Given the description of an element on the screen output the (x, y) to click on. 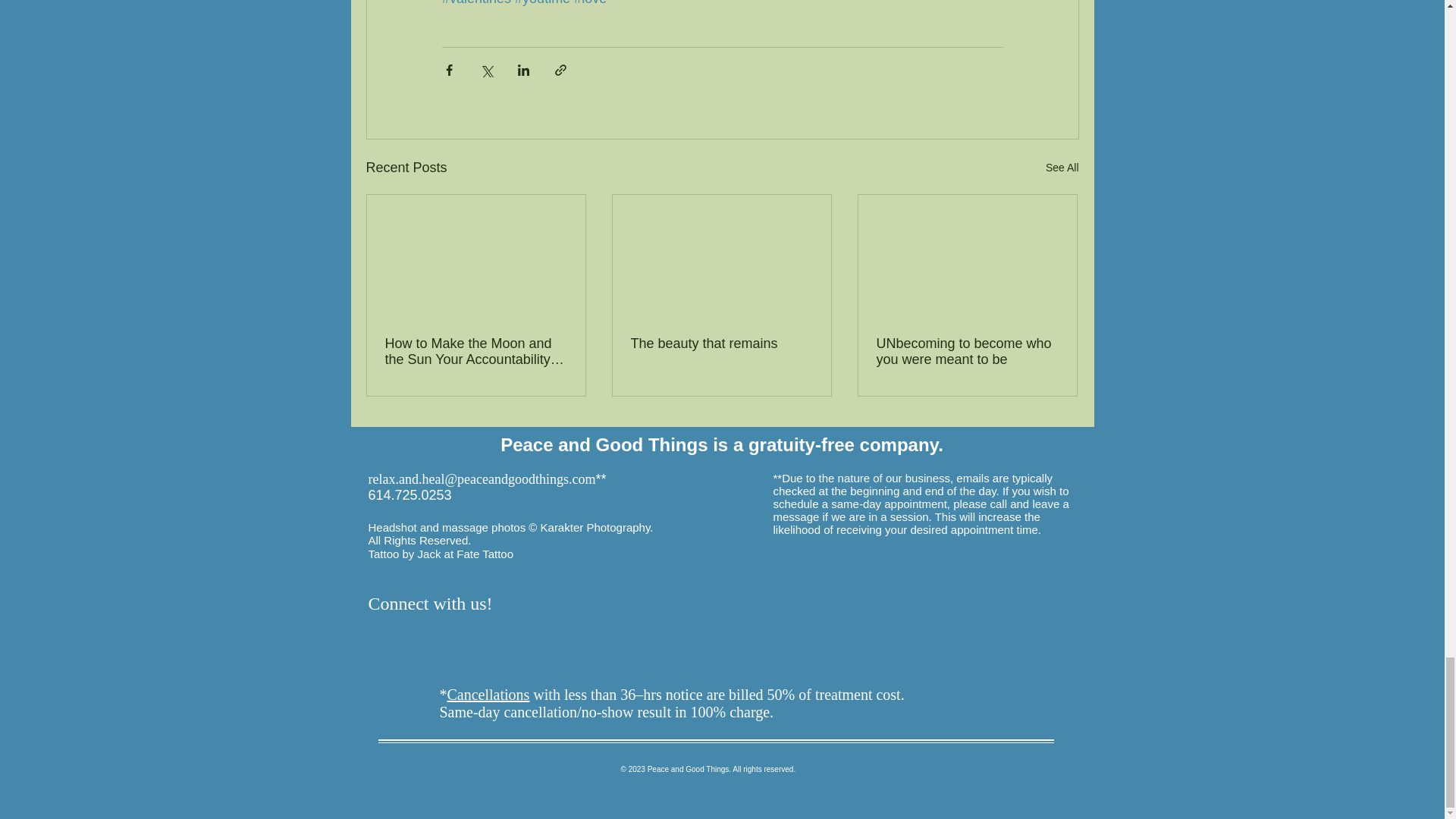
The beauty that remains (721, 343)
Peace and Good Things is a gratuity-free company. (721, 444)
UNbecoming to become who you were meant to be (967, 351)
See All (1061, 168)
